Given the description of an element on the screen output the (x, y) to click on. 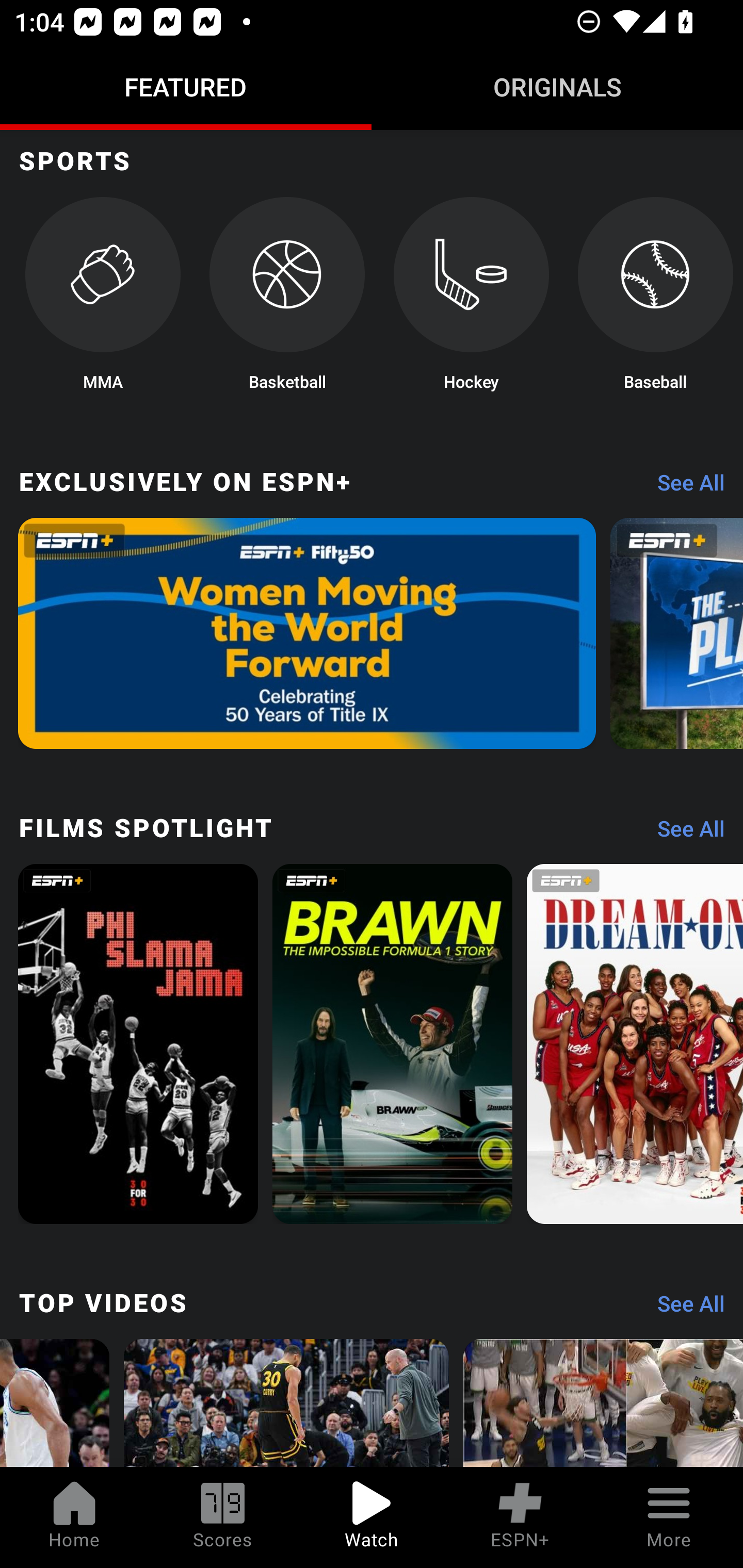
Originals ORIGINALS (557, 86)
MMA (102, 299)
Basketball (286, 299)
Hockey (471, 299)
Baseball (655, 299)
See All (683, 487)
See All (683, 833)
See All (683, 1308)
Home (74, 1517)
Scores (222, 1517)
ESPN+ (519, 1517)
More (668, 1517)
